Given the description of an element on the screen output the (x, y) to click on. 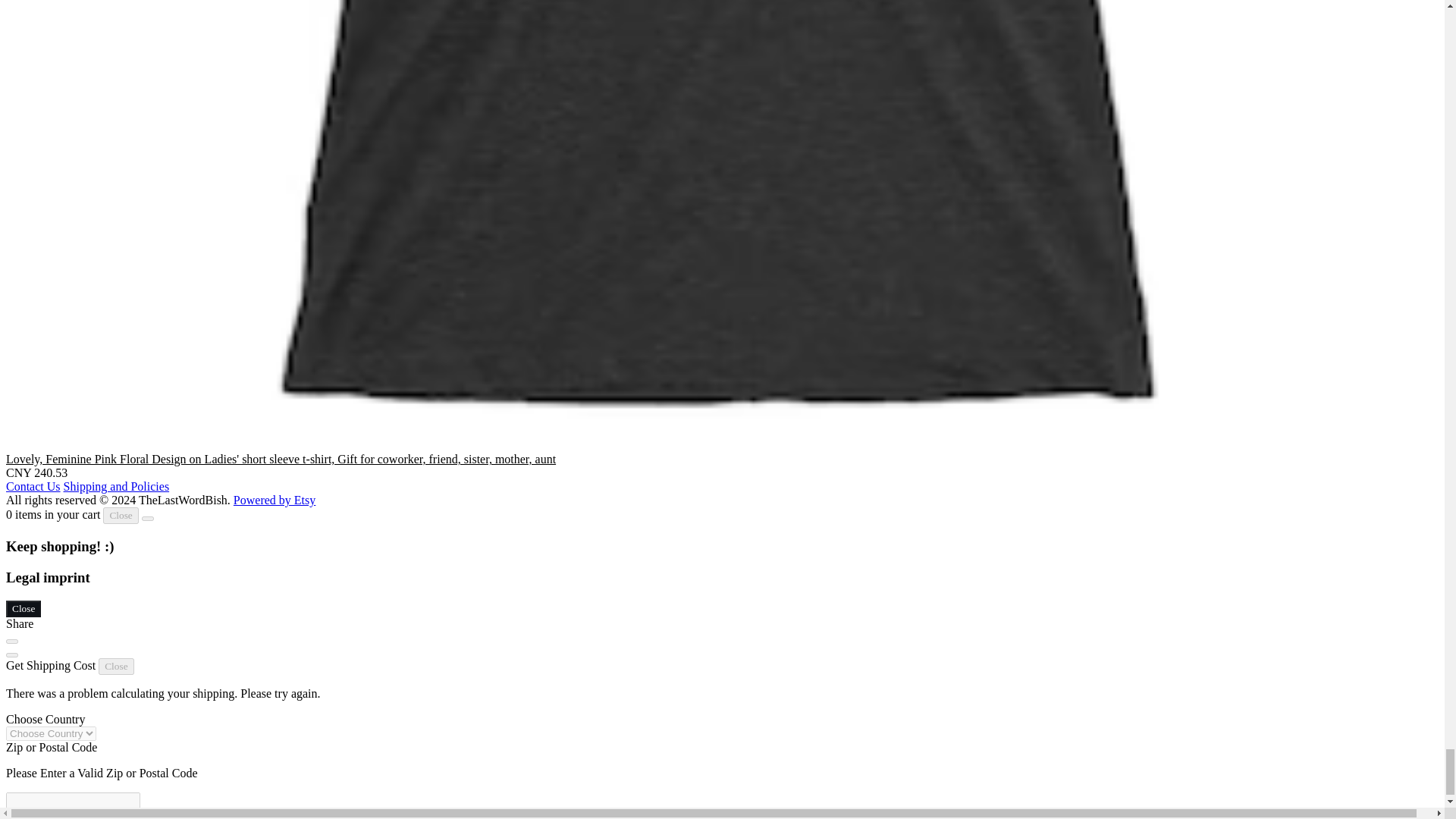
Shipping and Policies (117, 486)
Contact Us (33, 486)
Close (22, 608)
Close (120, 515)
Powered by Etsy (273, 499)
